Given the description of an element on the screen output the (x, y) to click on. 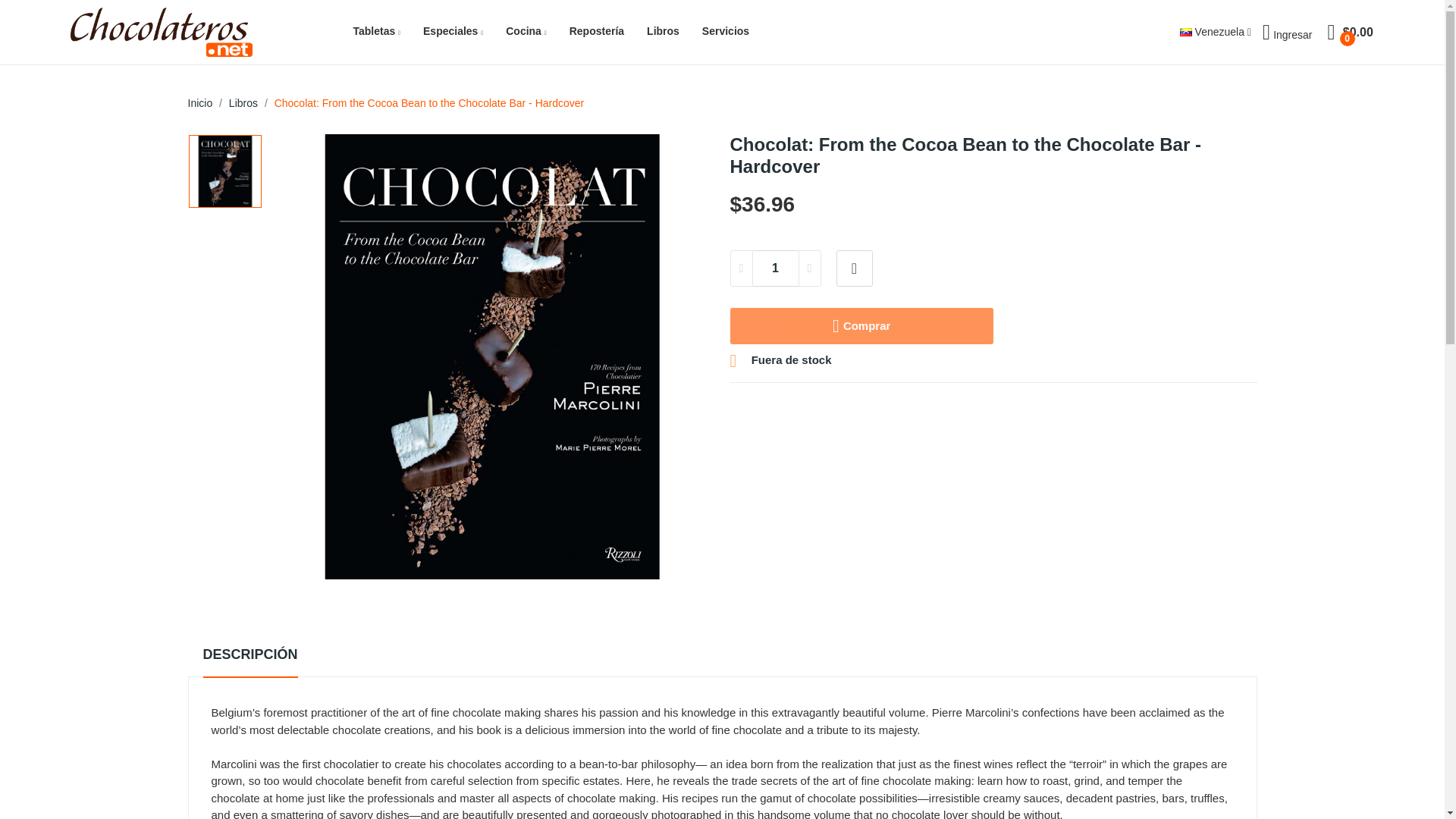
Cocina (526, 31)
Ingresar (1286, 31)
Add to my wishlist (853, 268)
Especiales (453, 31)
Tabletas (376, 31)
Servicios (725, 31)
1 (774, 268)
Libros (662, 31)
